Given the description of an element on the screen output the (x, y) to click on. 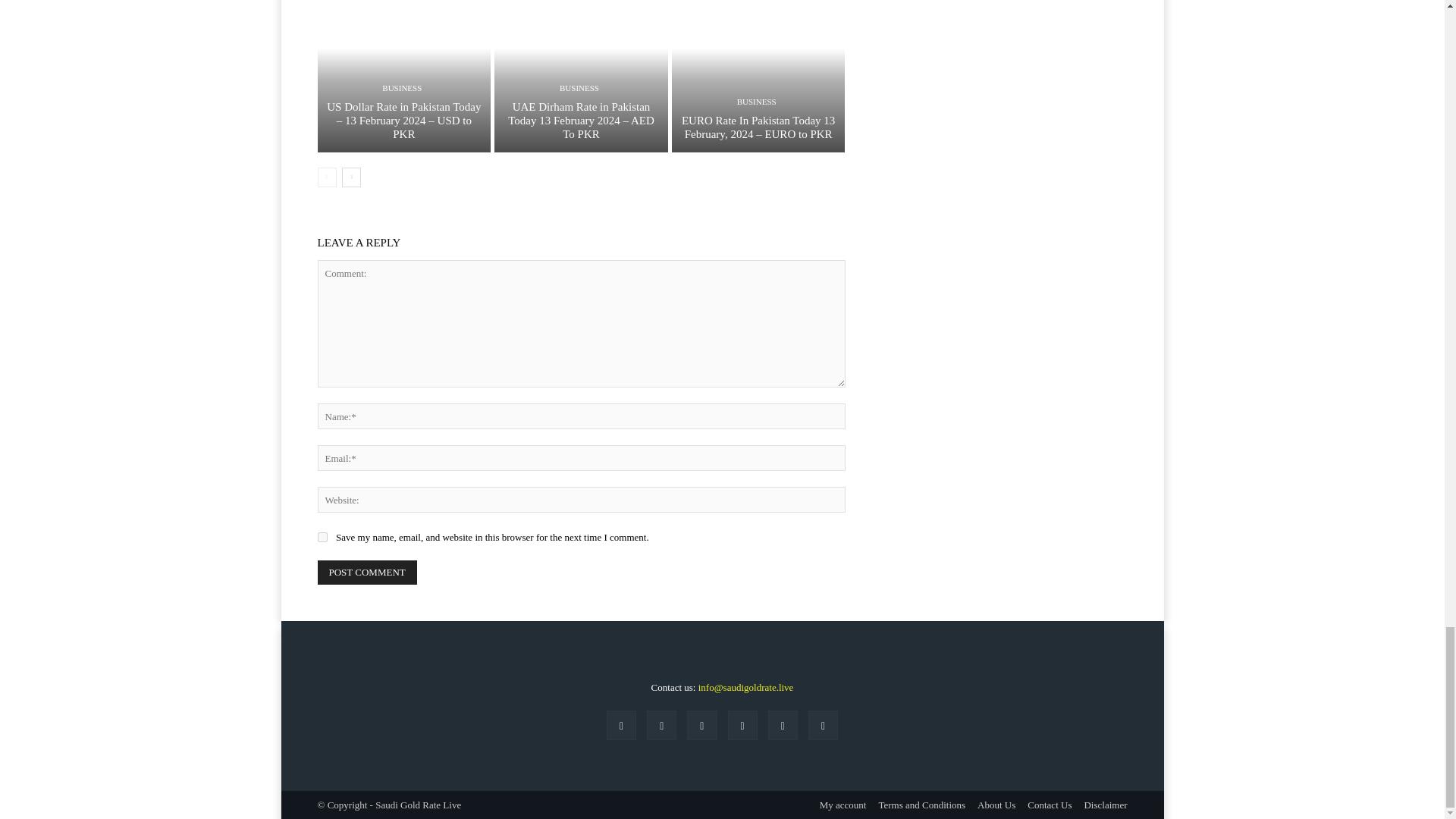
Post Comment (366, 572)
yes (321, 537)
